Given the description of an element on the screen output the (x, y) to click on. 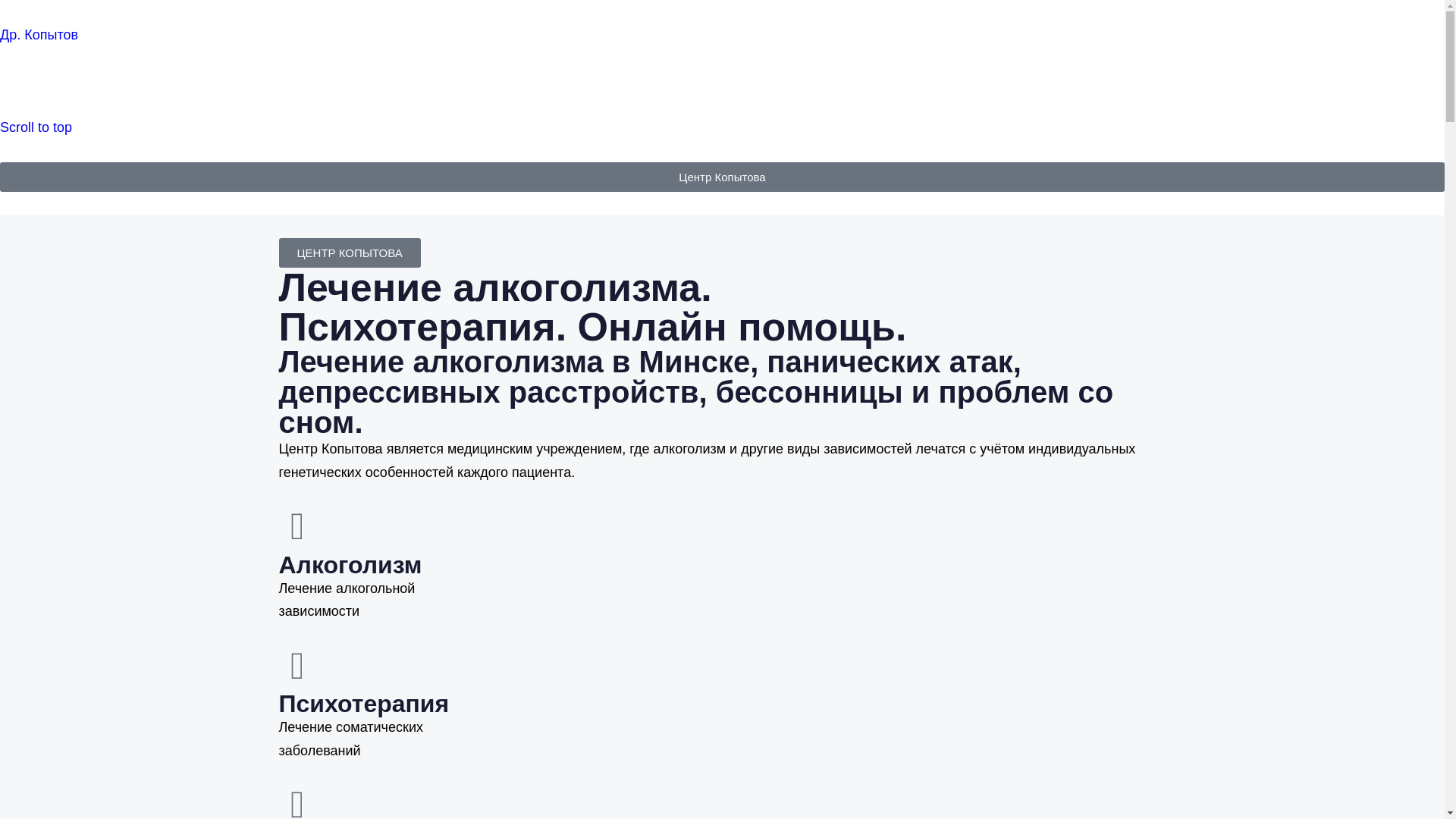
Scroll to top Element type: text (36, 126)
